Given the description of an element on the screen output the (x, y) to click on. 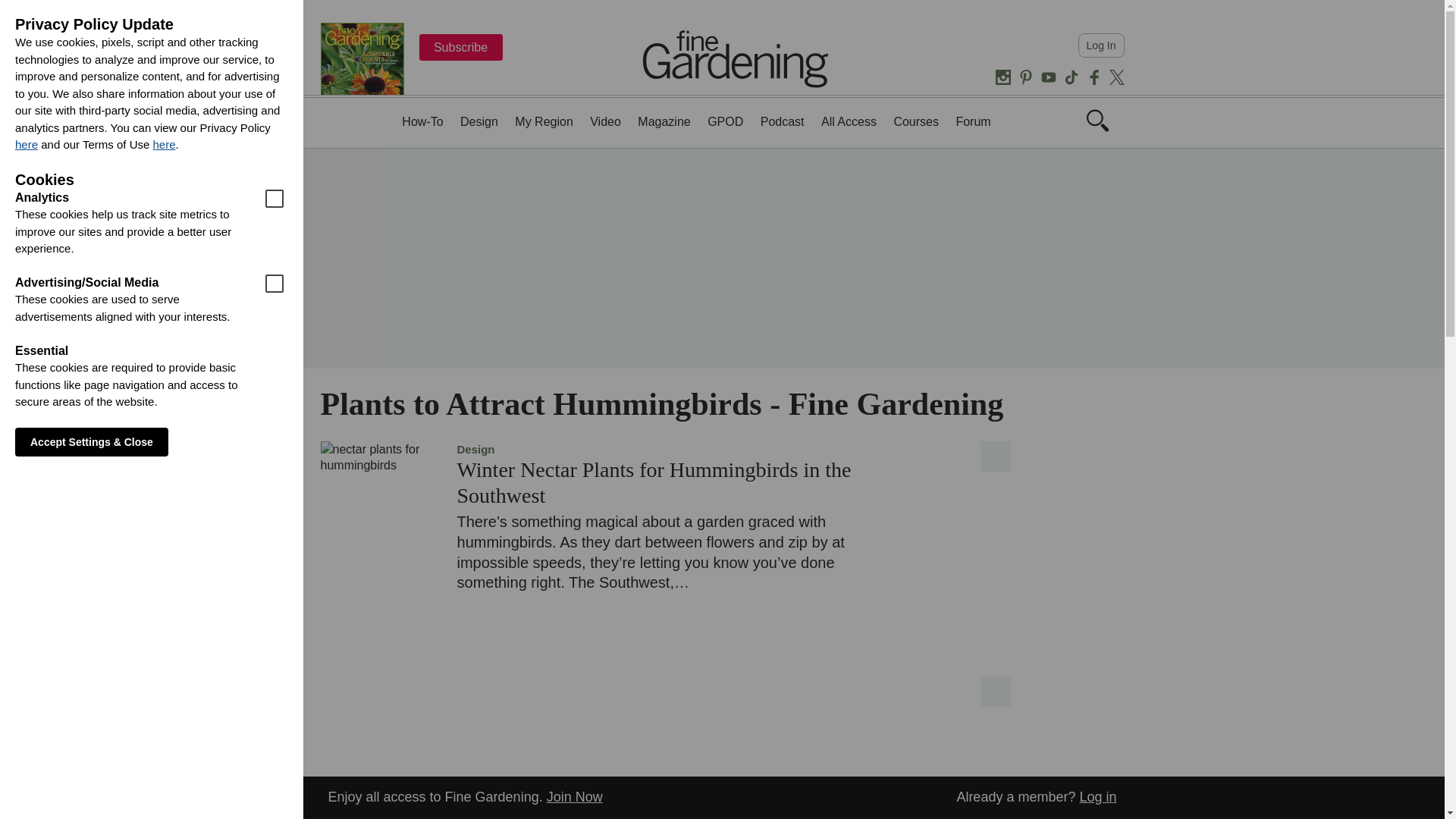
How-To (421, 121)
Open Search (1097, 127)
Log In (1101, 45)
Video (605, 121)
Courses (916, 121)
YouTube (1048, 77)
Magazine (663, 121)
Facebook (1093, 77)
Instragram (1002, 77)
All Access (848, 121)
Fine Gardening (735, 58)
Pinterest (1024, 77)
Open Search (1097, 119)
Design (478, 121)
Winter Nectar Plants for Hummingbirds in the Southwest (654, 481)
